Given the description of an element on the screen output the (x, y) to click on. 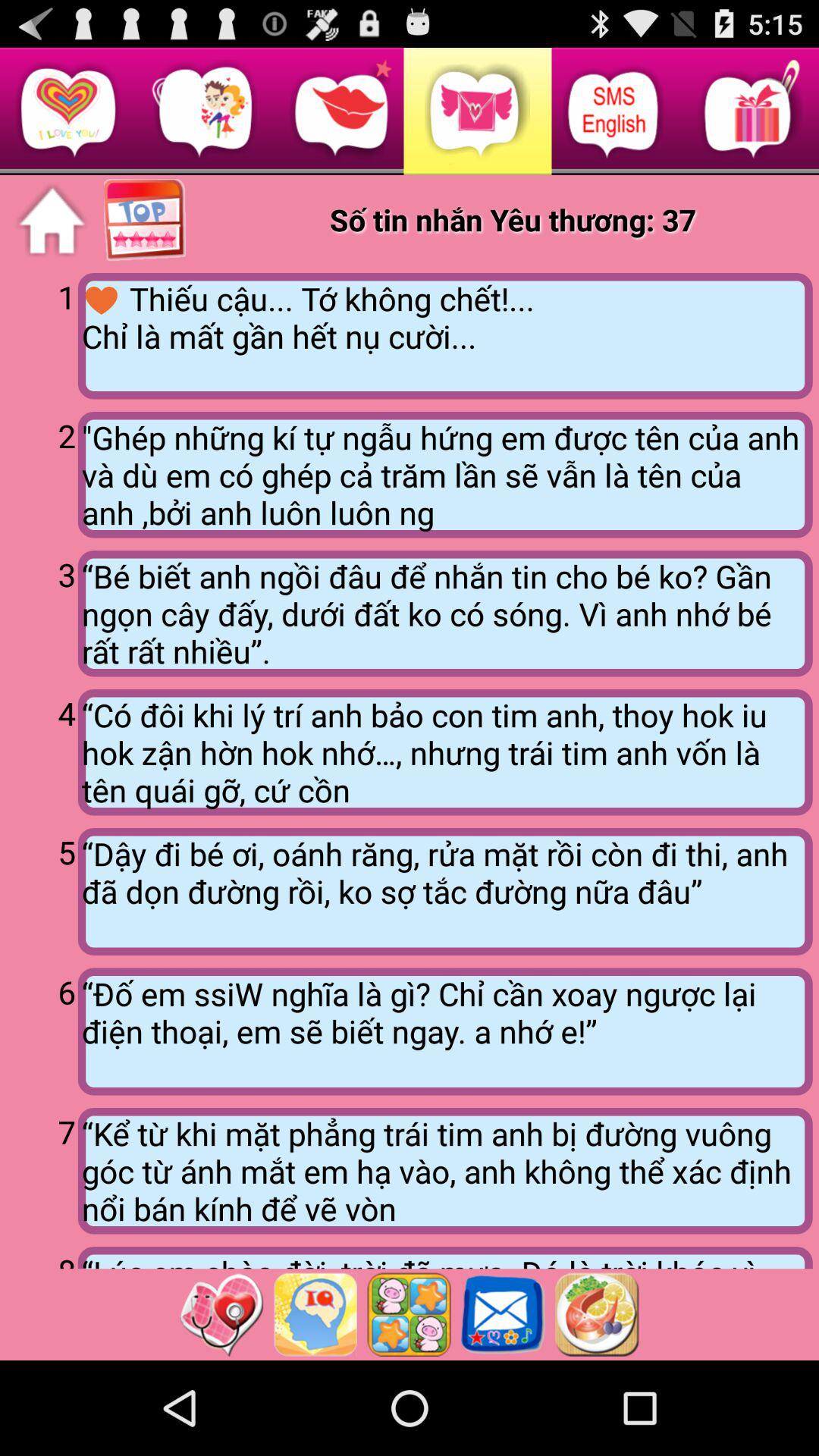
select option (409, 1314)
